Given the description of an element on the screen output the (x, y) to click on. 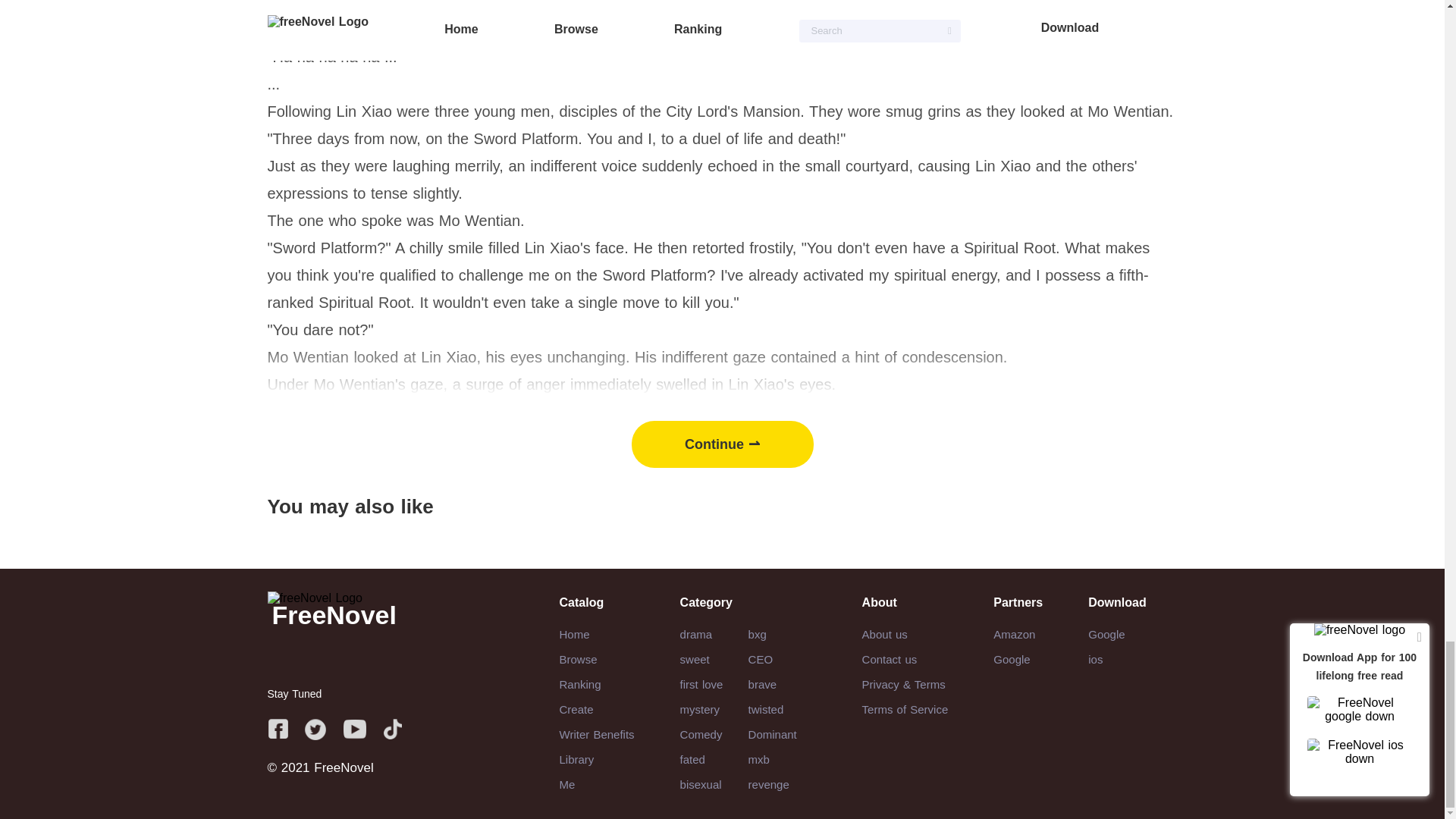
Writer Benefits (596, 734)
Comedy (700, 734)
Contact us (889, 658)
Me (567, 784)
Library (576, 758)
CEO (760, 658)
brave (762, 684)
Dominant (772, 734)
fated (691, 758)
revenge (768, 784)
